Given the description of an element on the screen output the (x, y) to click on. 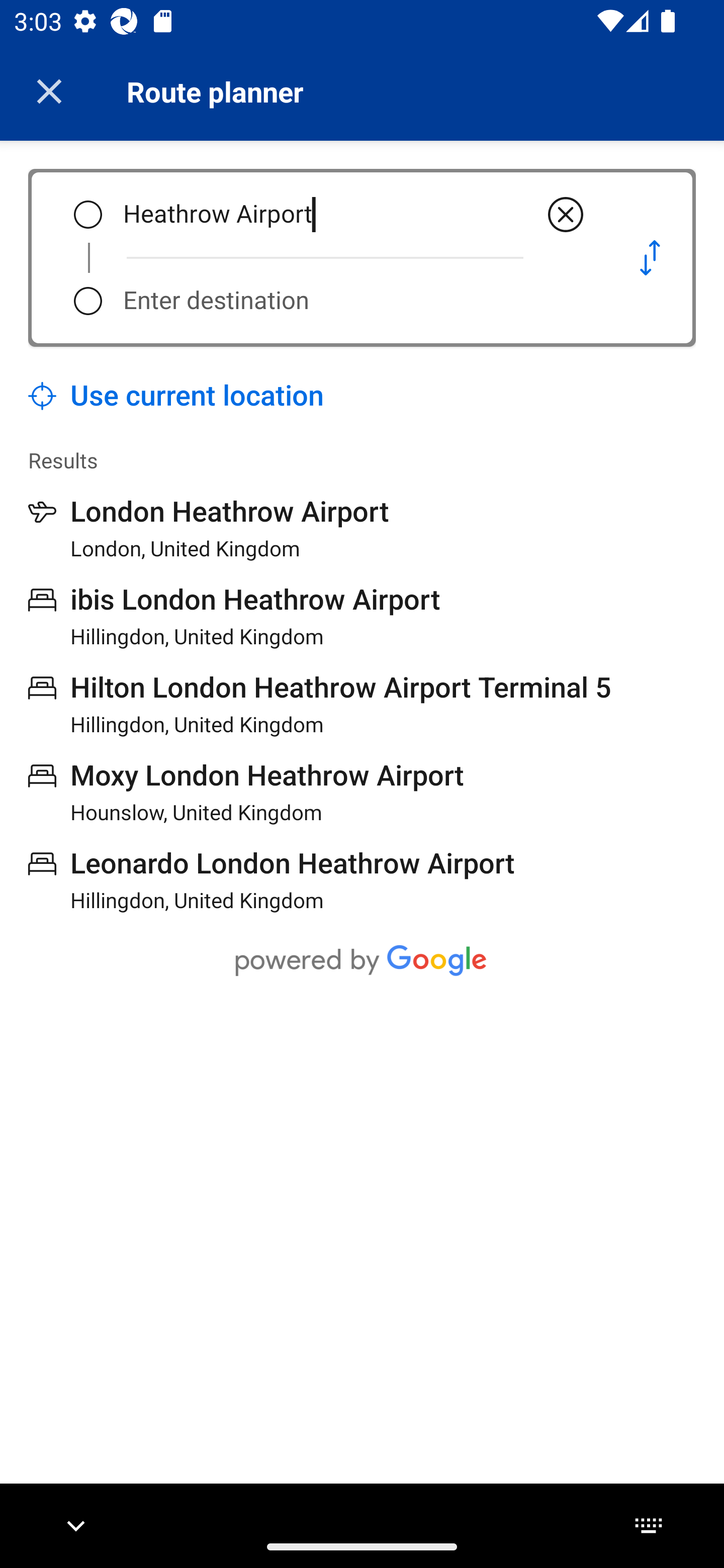
Close (49, 91)
Heathrow Airport Clear (355, 214)
Clear (565, 214)
Swap pick-up location and destination (650, 257)
Enter destination (355, 300)
Use current location (176, 395)
London Heathrow Airport London, United Kingdom (208, 528)
